Given the description of an element on the screen output the (x, y) to click on. 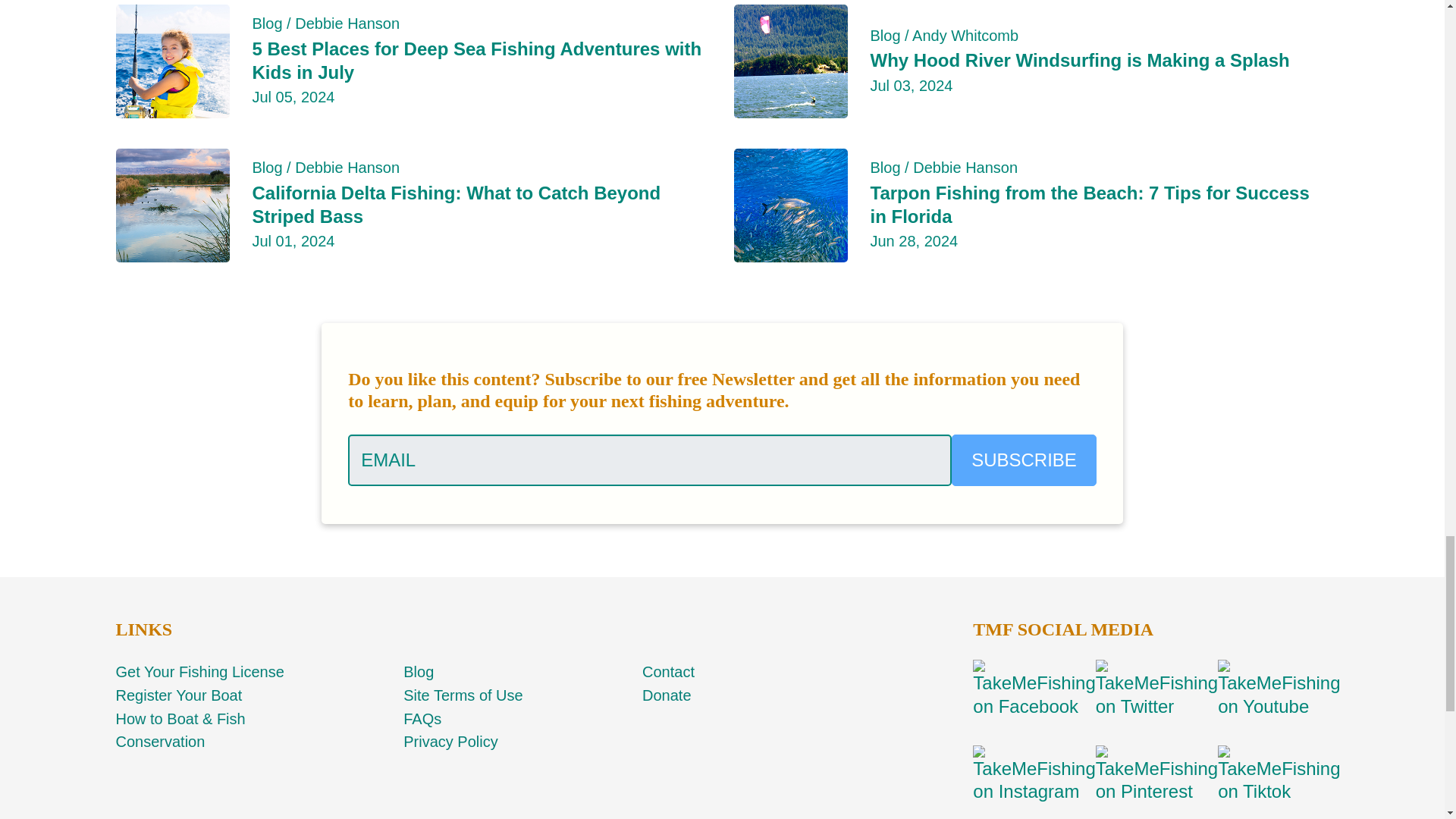
Subscribe (1024, 460)
